Given the description of an element on the screen output the (x, y) to click on. 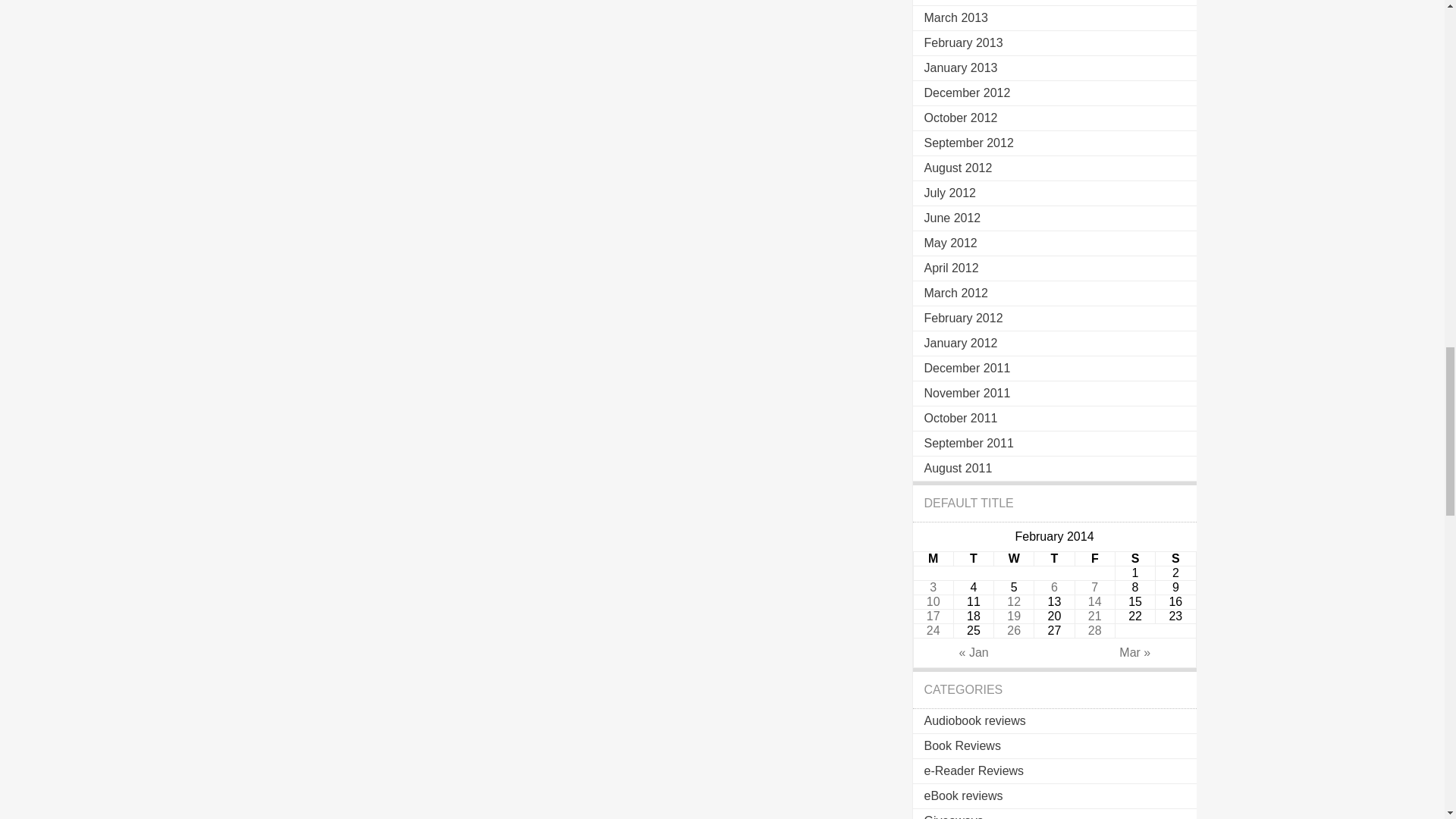
Sunday (1175, 559)
Saturday (1134, 559)
Monday (932, 559)
Wednesday (1013, 559)
Thursday (1053, 559)
Friday (1094, 559)
Tuesday (972, 559)
